Given the description of an element on the screen output the (x, y) to click on. 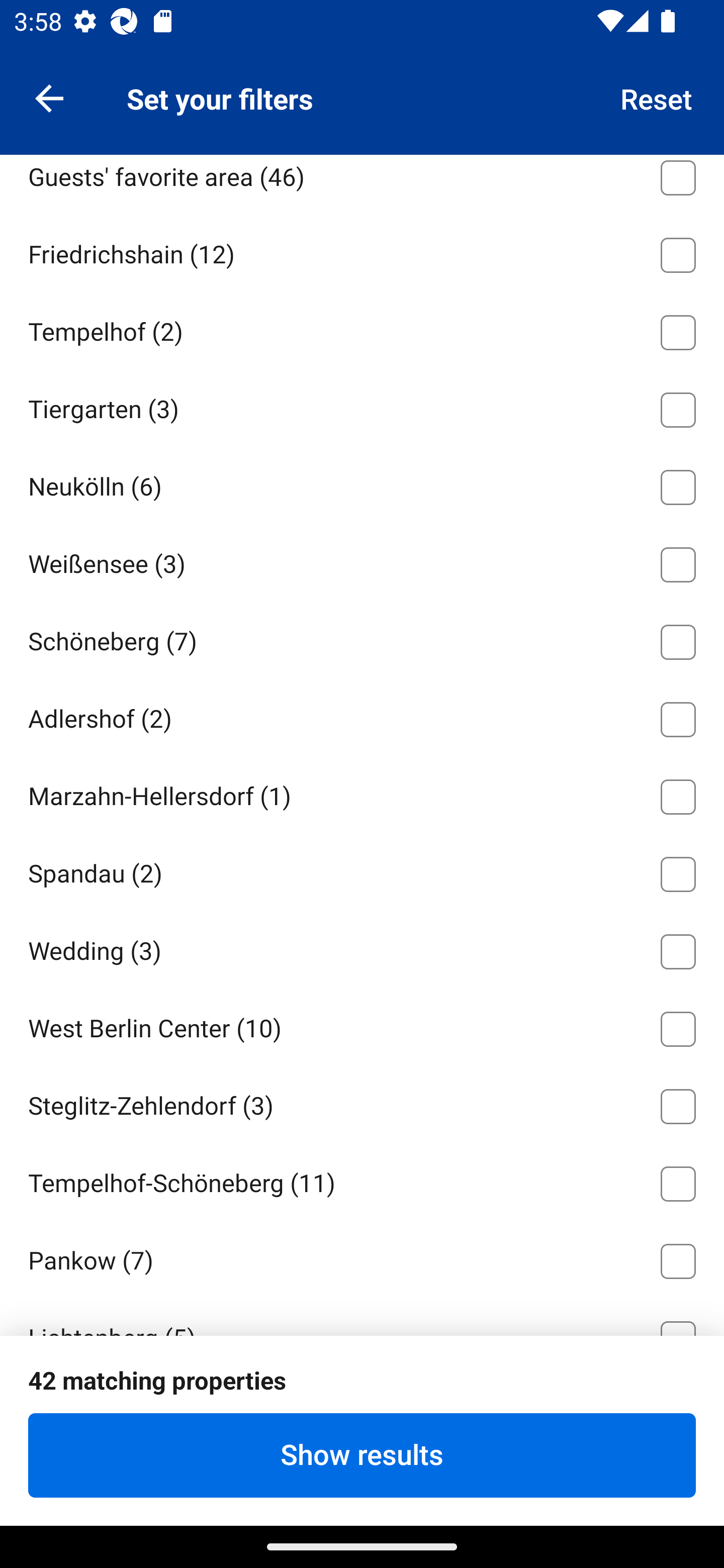
Navigate up (49, 97)
Charlottenburg ⁦(19) (361, 97)
Reset (656, 97)
Guests' favorite area ⁦(46) (361, 184)
Friedrichshain ⁦(12) (361, 251)
Tempelhof ⁦(2) (361, 329)
Tiergarten ⁦(3) (361, 406)
Neukölln ⁦(6) (361, 483)
Weißensee ⁦(3) (361, 561)
Schöneberg ⁦(7) (361, 638)
Adlershof ⁦(2) (361, 715)
Marzahn-Hellersdorf ⁦(1) (361, 793)
Spandau ⁦(2) (361, 870)
Wedding ⁦(3) (361, 947)
West Berlin Center ⁦(10) (361, 1025)
Steglitz-Zehlendorf ⁦(3) (361, 1102)
Tempelhof-Schöneberg ⁦(11) (361, 1180)
Pankow ⁦(7) (361, 1257)
Show results (361, 1454)
